Given the description of an element on the screen output the (x, y) to click on. 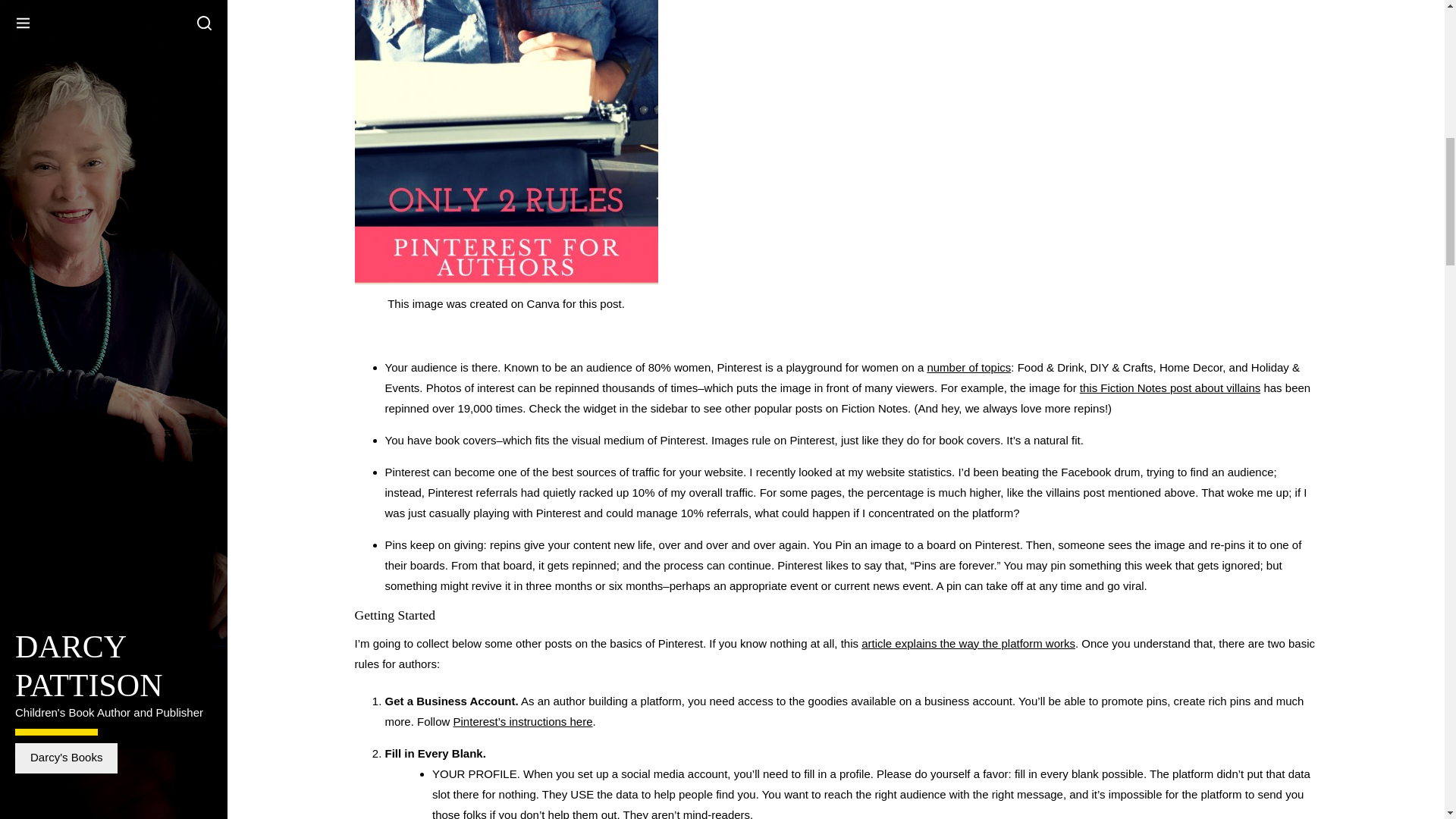
number of topics (968, 367)
this Fiction Notes post about villains (1170, 387)
article explains the way the platform works (968, 643)
